Given the description of an element on the screen output the (x, y) to click on. 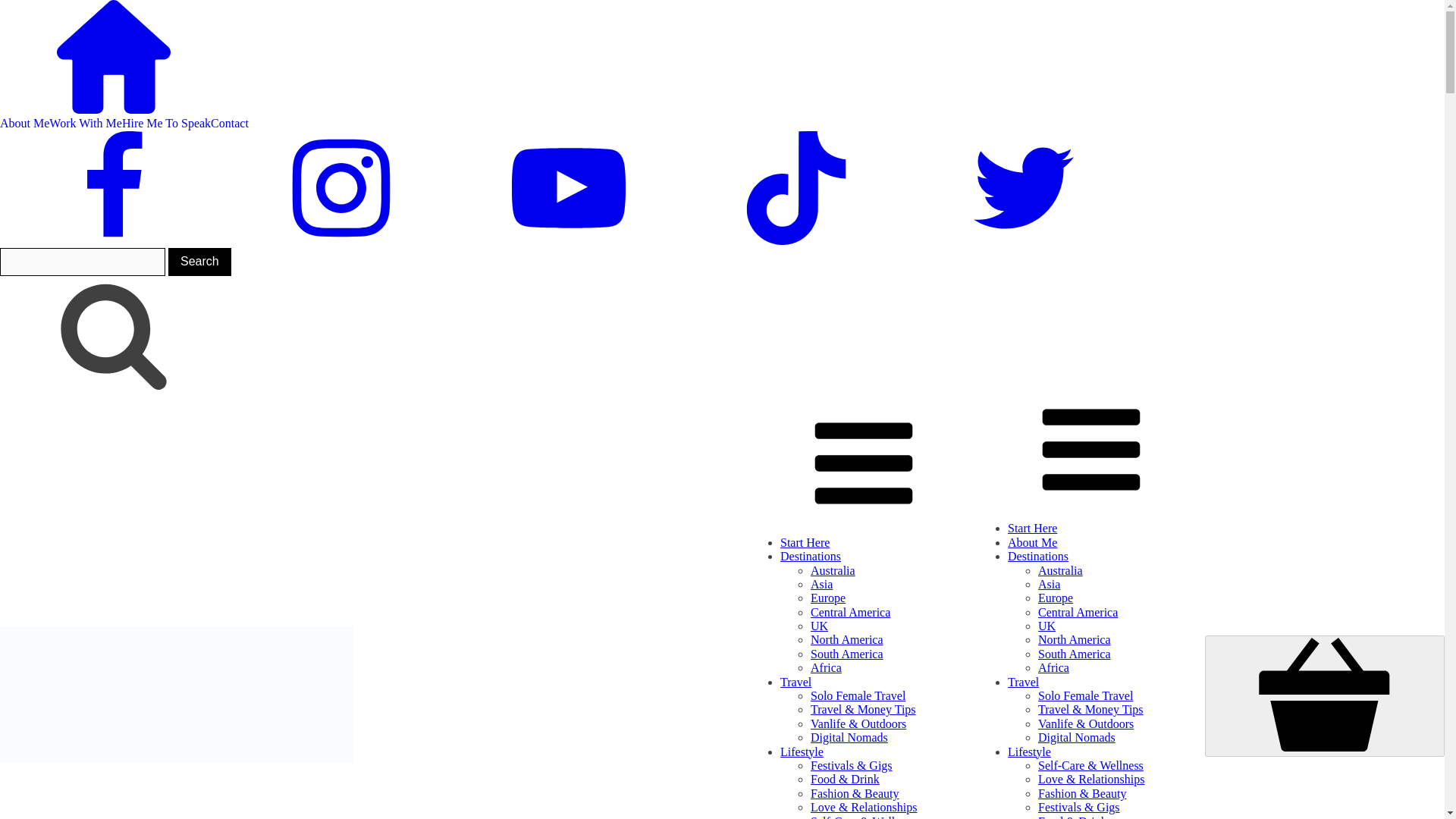
Search (199, 261)
UK (819, 625)
Asia (821, 584)
Lifestyle (802, 751)
About Me (1032, 542)
Search (199, 261)
Travel (795, 681)
Australia (833, 570)
Contact (229, 123)
Asia (1048, 584)
